Given the description of an element on the screen output the (x, y) to click on. 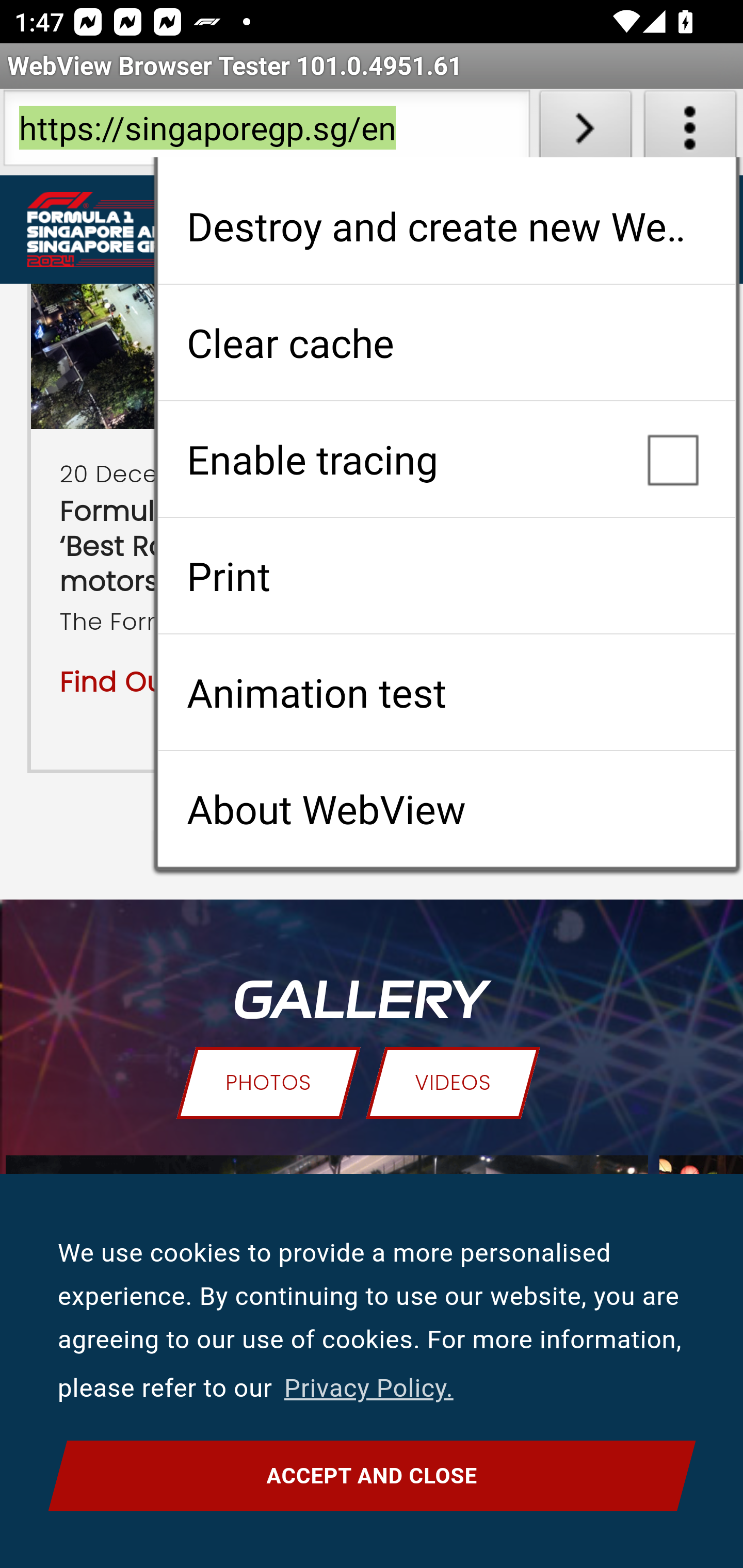
Destroy and create new WebView (446, 225)
Clear cache (446, 342)
Enable tracing (446, 459)
Print (446, 575)
Animation test (446, 692)
About WebView (446, 809)
